Given the description of an element on the screen output the (x, y) to click on. 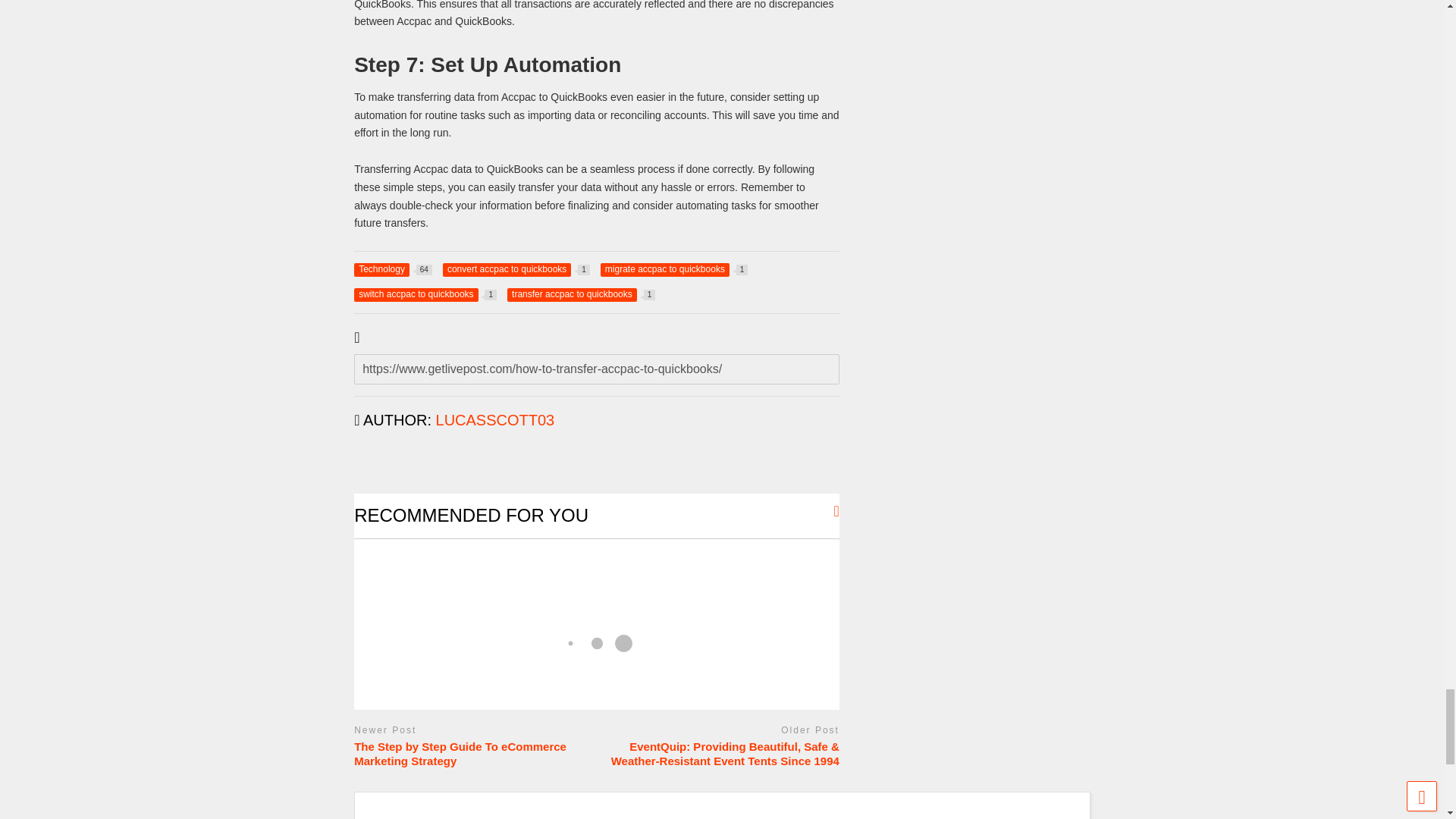
author profile (673, 269)
LUCASSCOTT03 (580, 295)
The Step by Step Guide To eCommerce Marketing Strategy (515, 269)
